Given the description of an element on the screen output the (x, y) to click on. 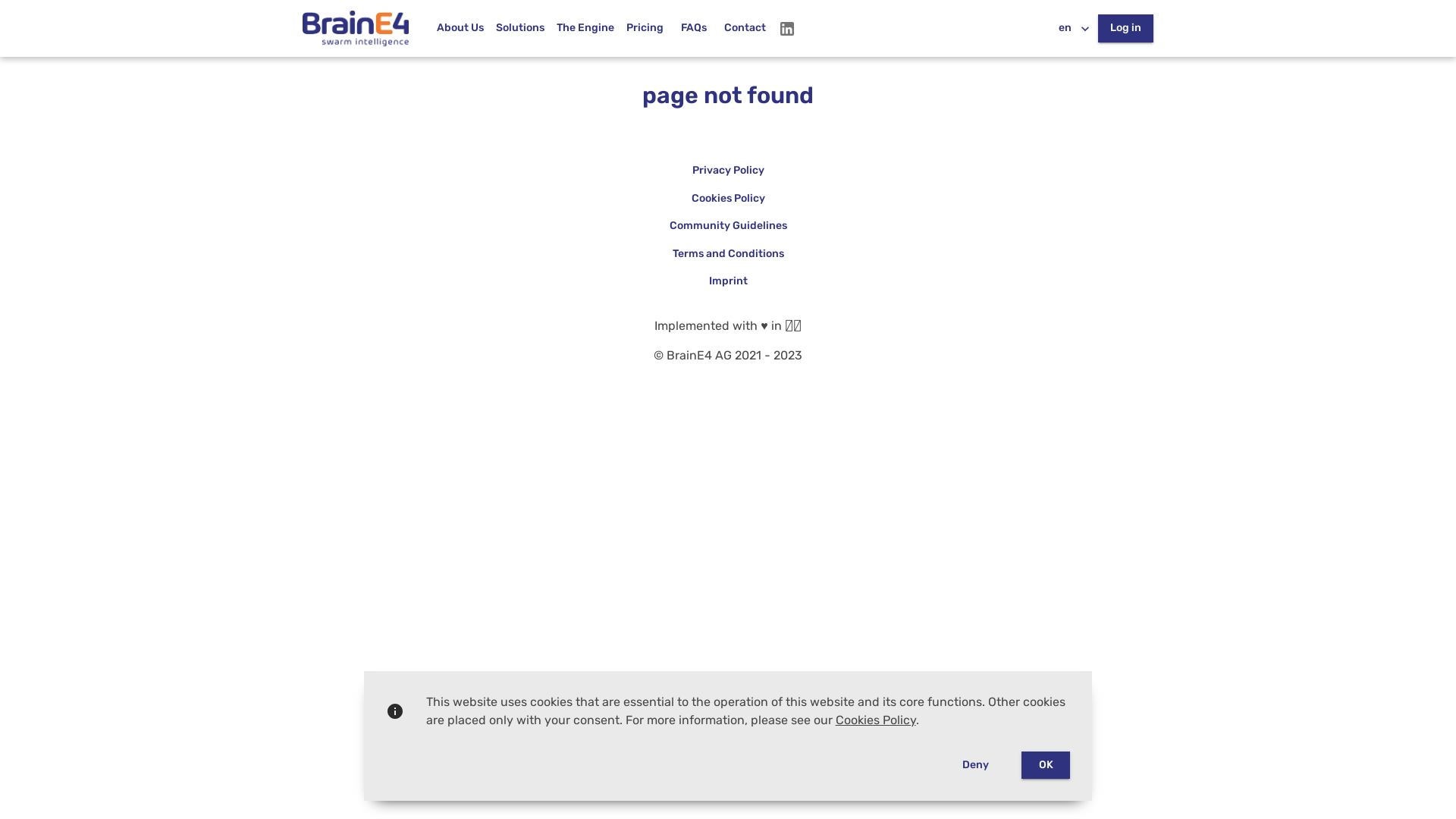
Imprint Element type: text (727, 281)
Log in Element type: text (1125, 28)
en Element type: text (1073, 28)
Pricing Element type: text (644, 28)
FAQs Element type: text (693, 28)
Solutions Element type: text (519, 28)
Privacy Policy Element type: text (727, 170)
Community Guidelines Element type: text (727, 226)
Imprint Element type: text (727, 281)
Cookies Policy Element type: text (728, 199)
Deny Element type: text (974, 765)
About Us Element type: text (459, 28)
Contact Element type: text (744, 28)
Contact Element type: text (744, 28)
Privacy Policy Element type: text (727, 170)
Cookies Policy Element type: text (875, 719)
Community Guidelines Element type: text (727, 225)
Cookies Policy Element type: text (728, 198)
About Us Element type: text (459, 28)
Solutions Element type: text (519, 28)
The Engine Element type: text (585, 28)
Pricing Element type: text (644, 28)
Terms and Conditions Element type: text (727, 253)
OK Element type: text (1045, 765)
Terms and Conditions Element type: text (727, 253)
The Engine Element type: text (585, 28)
FAQs Element type: text (693, 28)
